Given the description of an element on the screen output the (x, y) to click on. 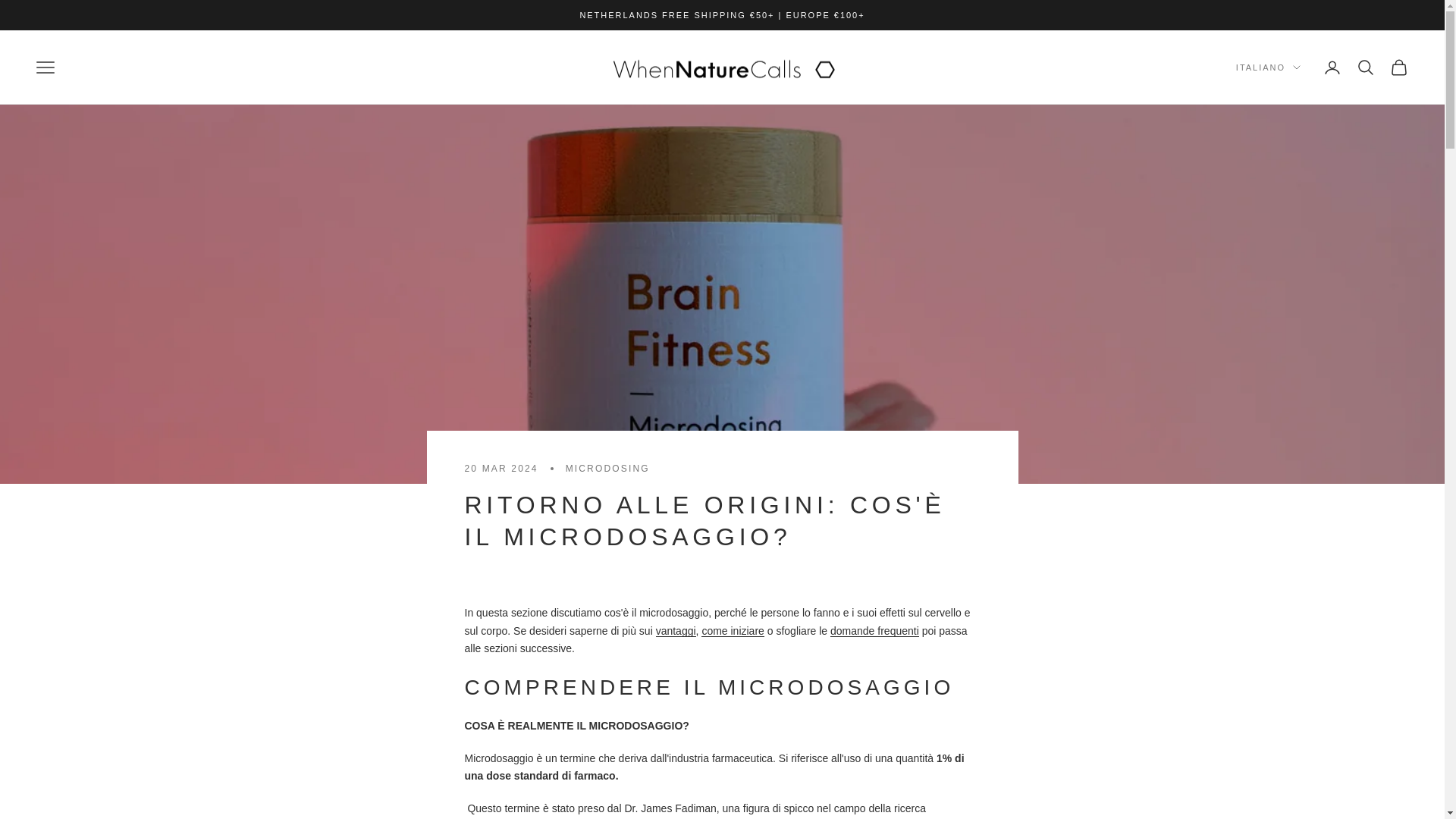
Apri il menu di navigazione (45, 67)
Mostra il carrello (1398, 67)
MICRODOSING (607, 468)
domande frequenti (873, 630)
come iniziare (731, 630)
When Nature Calls (721, 67)
Mostra account (1331, 67)
vantaggi (675, 630)
Mostra il menu di ricerca (1365, 67)
ITALIANO (1268, 67)
